Given the description of an element on the screen output the (x, y) to click on. 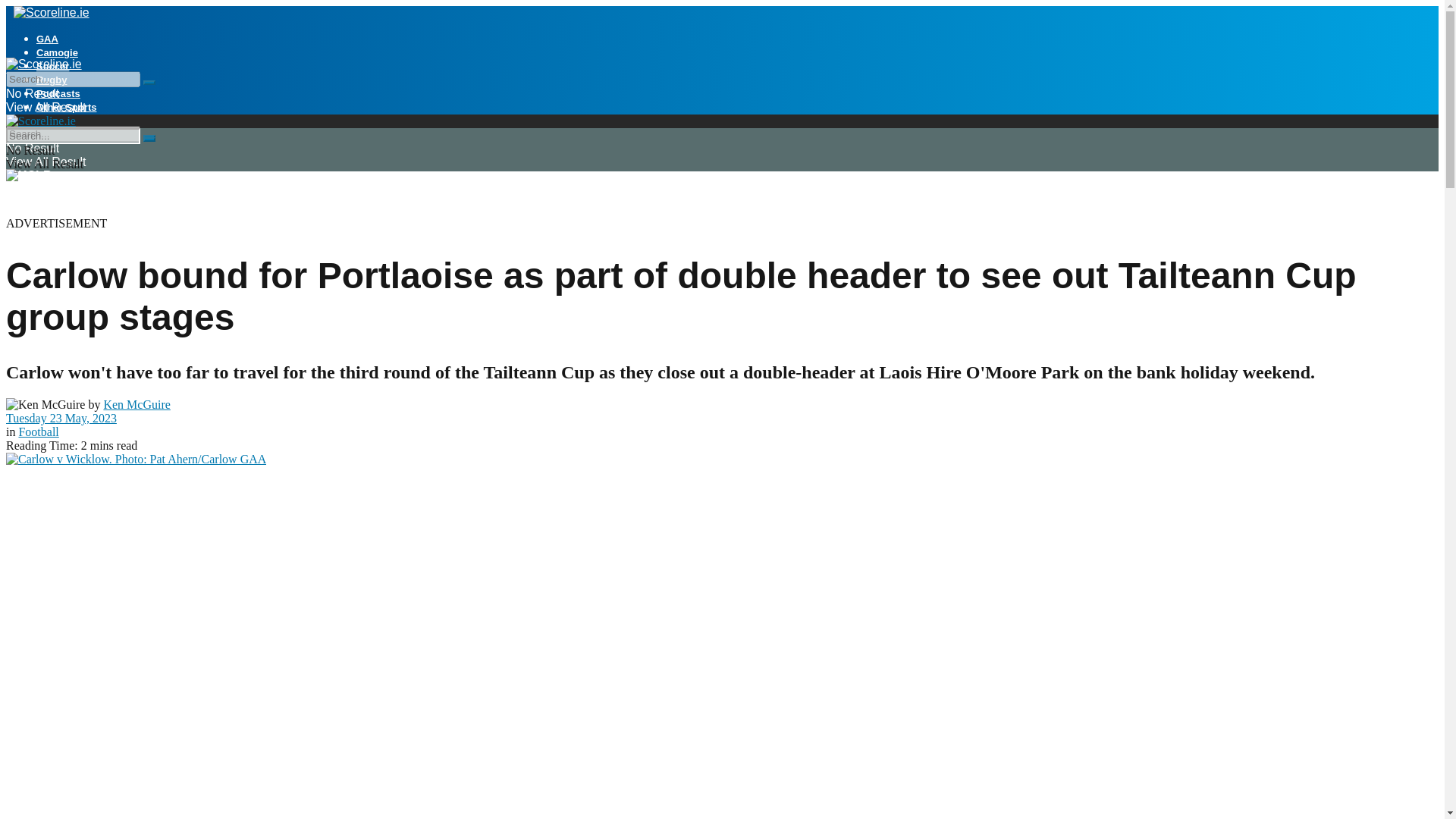
Soccer (52, 66)
Camogie (57, 52)
Other Sports (66, 107)
Rugby (51, 79)
Podcasts (58, 93)
Ken McGuire (136, 404)
Football (37, 431)
GAA (47, 39)
Tuesday 23 May, 2023 (60, 418)
